Given the description of an element on the screen output the (x, y) to click on. 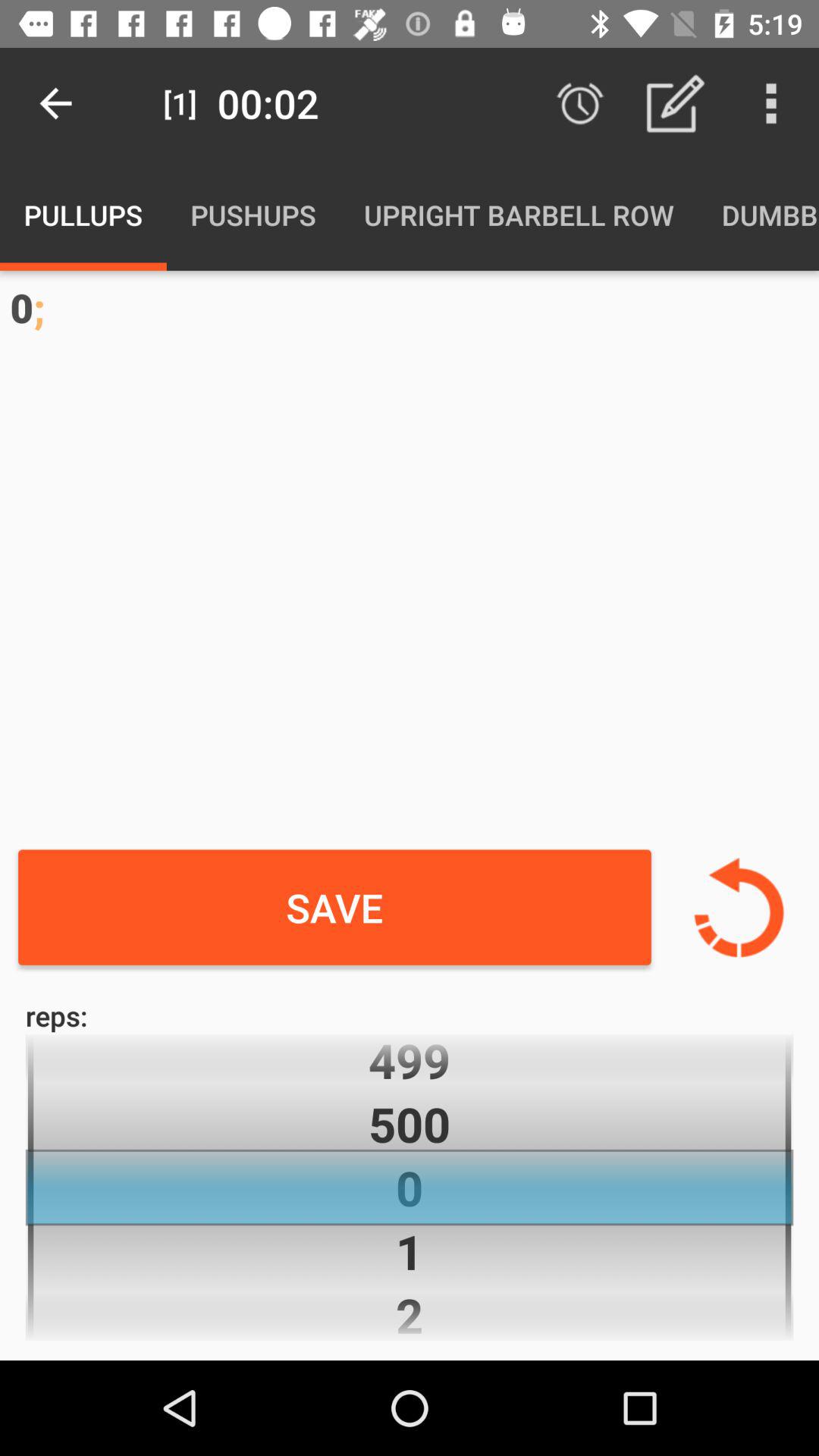
undo changes (738, 907)
